Given the description of an element on the screen output the (x, y) to click on. 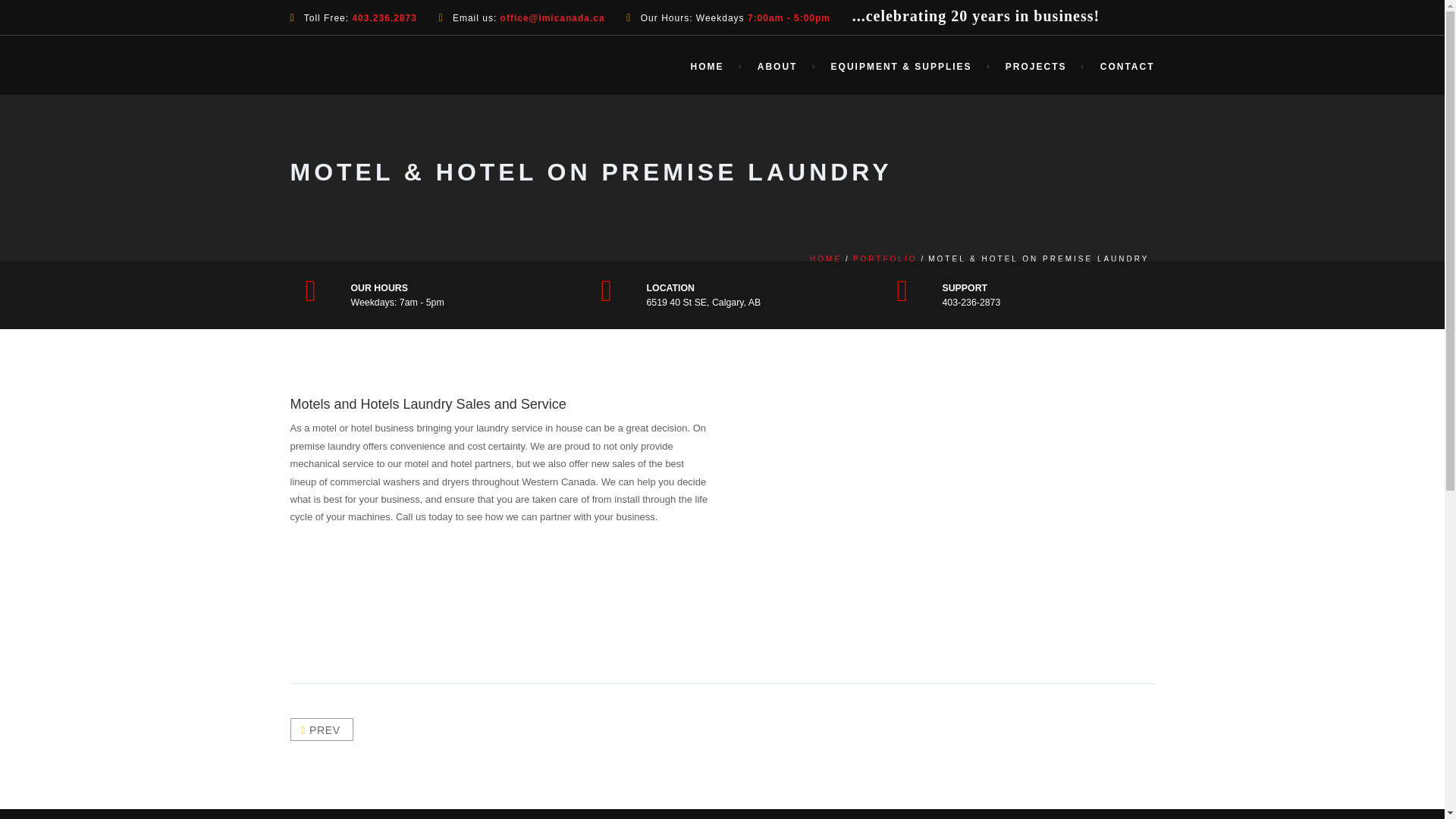
403.236.2873 (384, 18)
HOME (708, 66)
PROJECTS (1037, 66)
ABOUT (778, 66)
Washer-and-dryer-for-motels-alberta-3 (903, 454)
About (778, 66)
Stack,Of,Fresh,White,Bath,Towels,On,Bed,Sheet,In (903, 568)
PORTFOLIO (885, 258)
Home (708, 66)
HOME (825, 258)
CONTACT (1119, 66)
Washer-and-dryer-for-motels-alberta-2 (790, 454)
Contact (1119, 66)
Projects (1037, 66)
Washer-and-dryer-for-motels-alberta-4 (1019, 454)
